Given the description of an element on the screen output the (x, y) to click on. 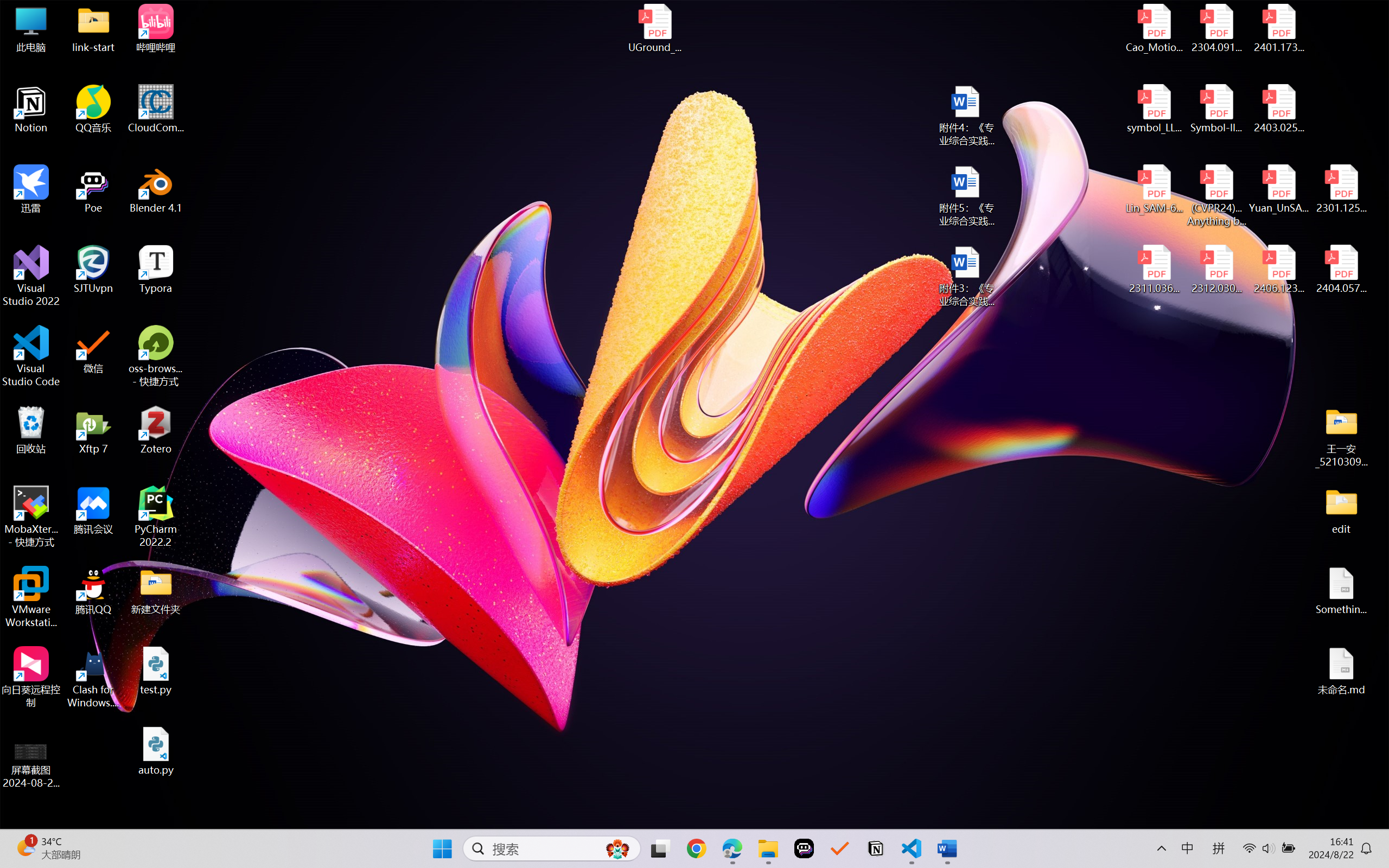
Symbol-llm-v2.pdf (1216, 109)
Google Chrome (696, 848)
(CVPR24)Matching Anything by Segmenting Anything.pdf (1216, 195)
2403.02502v1.pdf (1278, 109)
Poe (93, 189)
Blender 4.1 (156, 189)
Visual Studio 2022 (31, 276)
